Given the description of an element on the screen output the (x, y) to click on. 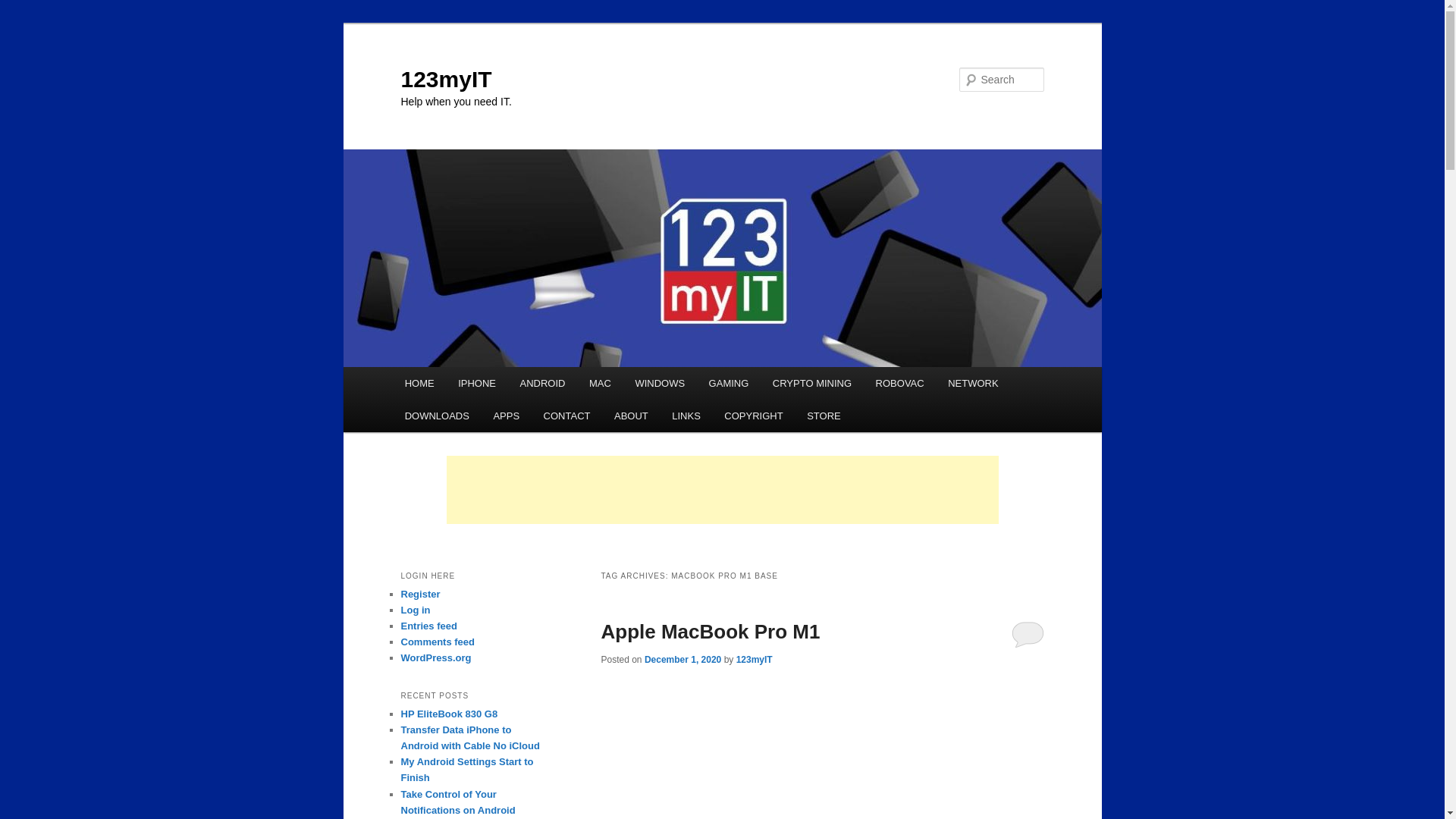
CRYPTO MINING Element type: text (811, 383)
WordPress.org Element type: text (435, 657)
December 1, 2020 Element type: text (682, 659)
Skip to primary content Element type: text (414, 367)
MAC Element type: text (599, 383)
ROBOVAC Element type: text (899, 383)
LINKS Element type: text (686, 415)
123myIT Element type: text (445, 78)
ANDROID Element type: text (542, 383)
Apple MacBook Pro M1 Element type: text (709, 631)
Entries feed Element type: text (428, 625)
Take Control of Your Notifications on Android Element type: text (457, 801)
DOWNLOADS Element type: text (436, 415)
CONTACT Element type: text (566, 415)
IPHONE Element type: text (476, 383)
HOME Element type: text (419, 383)
Transfer Data iPhone to Android with Cable No iCloud Element type: text (469, 737)
Log in Element type: text (414, 609)
My Android Settings Start to Finish Element type: text (466, 769)
ABOUT Element type: text (630, 415)
WINDOWS Element type: text (659, 383)
Advertisement Element type: hover (721, 489)
HP EliteBook 830 G8 Element type: text (448, 713)
123myIT Element type: text (754, 659)
GAMING Element type: text (728, 383)
COPYRIGHT Element type: text (753, 415)
Register Element type: text (419, 593)
Search Element type: text (24, 8)
APPS Element type: text (506, 415)
STORE Element type: text (823, 415)
Comments feed Element type: text (437, 641)
NETWORK Element type: text (972, 383)
